Given the description of an element on the screen output the (x, y) to click on. 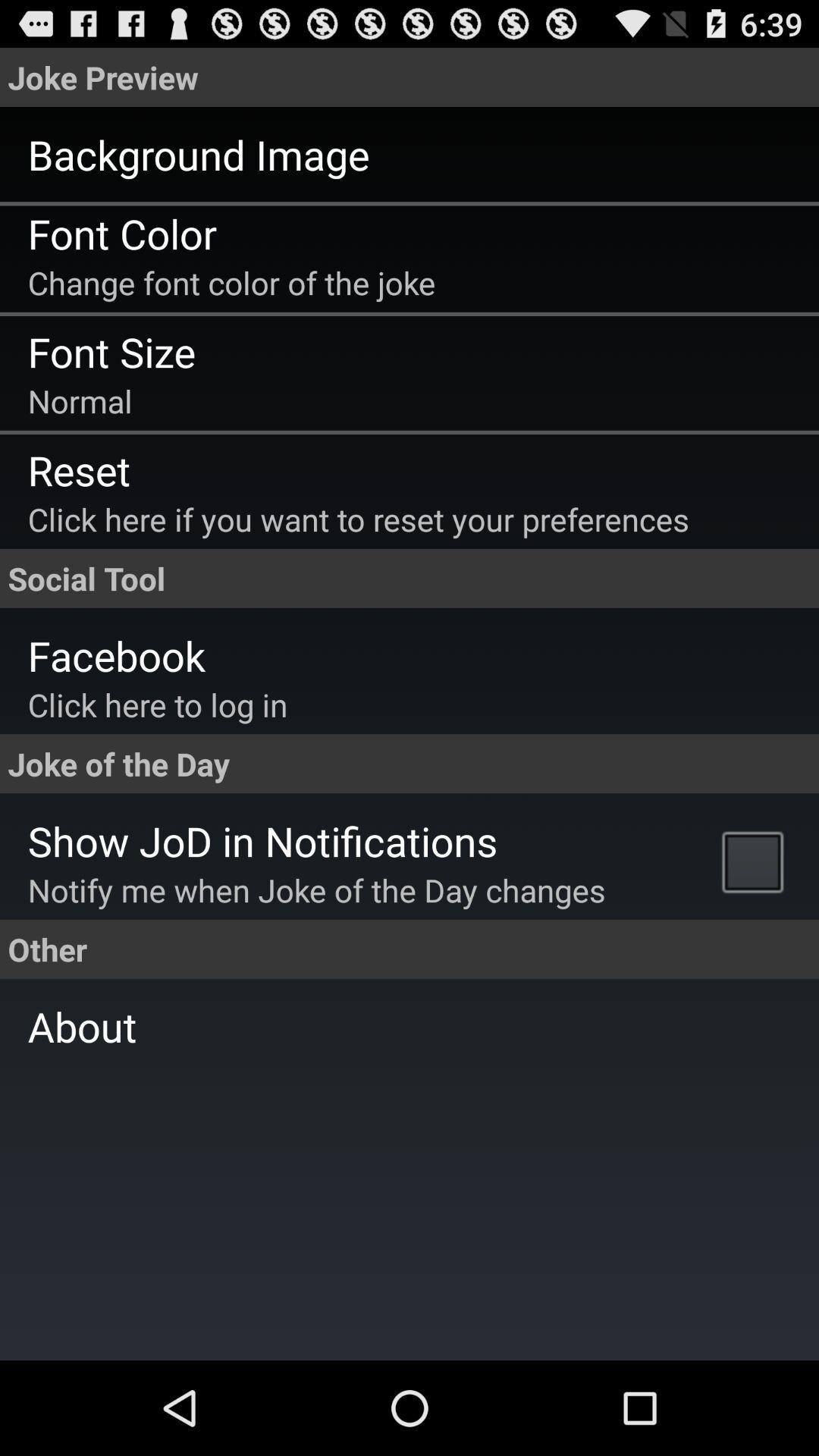
select the (756, 860)
